Given the description of an element on the screen output the (x, y) to click on. 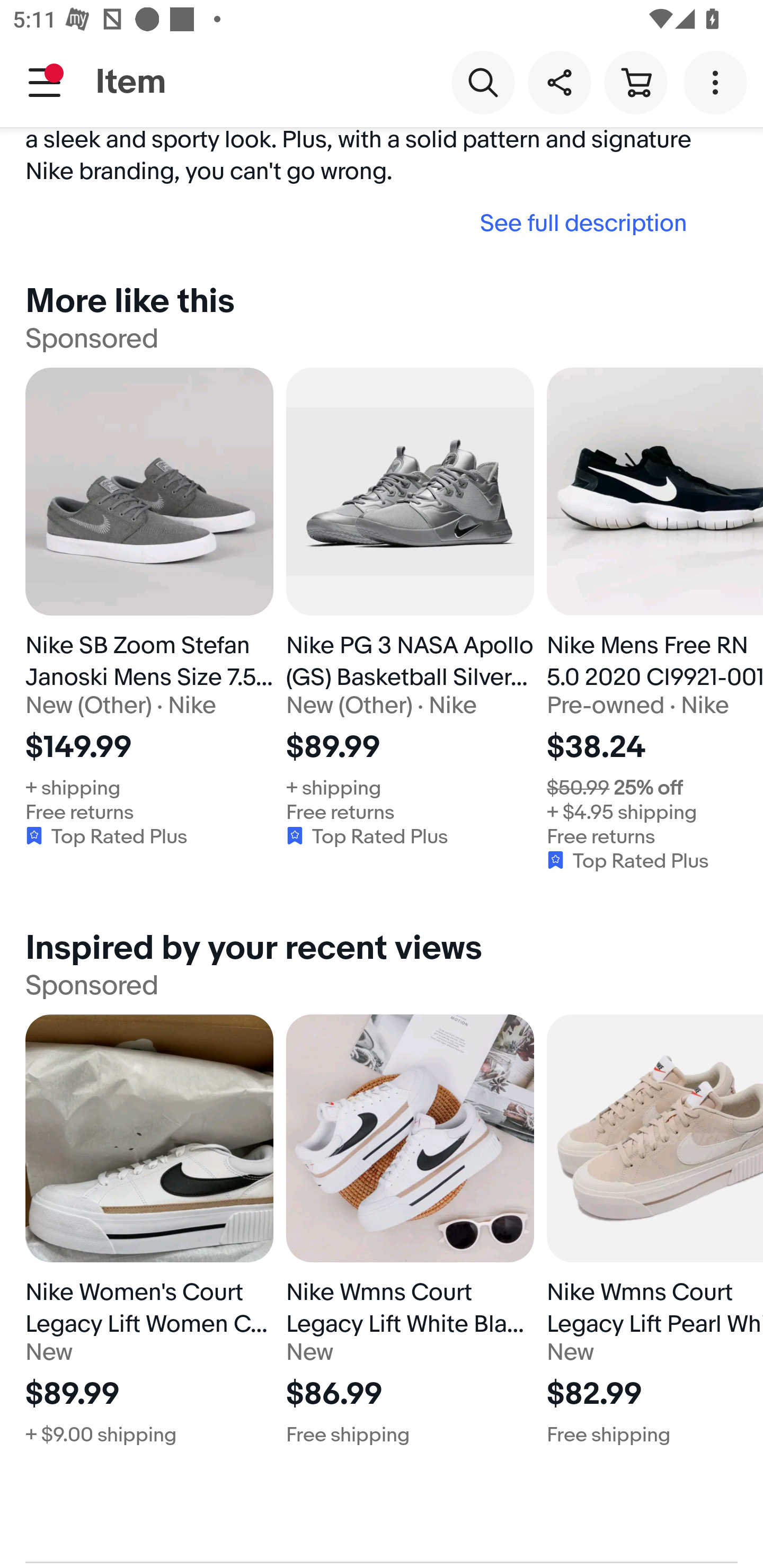
Main navigation, notification is pending, open (44, 82)
Search (482, 81)
Share this item (559, 81)
Cart button shopping cart (635, 81)
More options (718, 81)
See full description (362, 223)
